Given the description of an element on the screen output the (x, y) to click on. 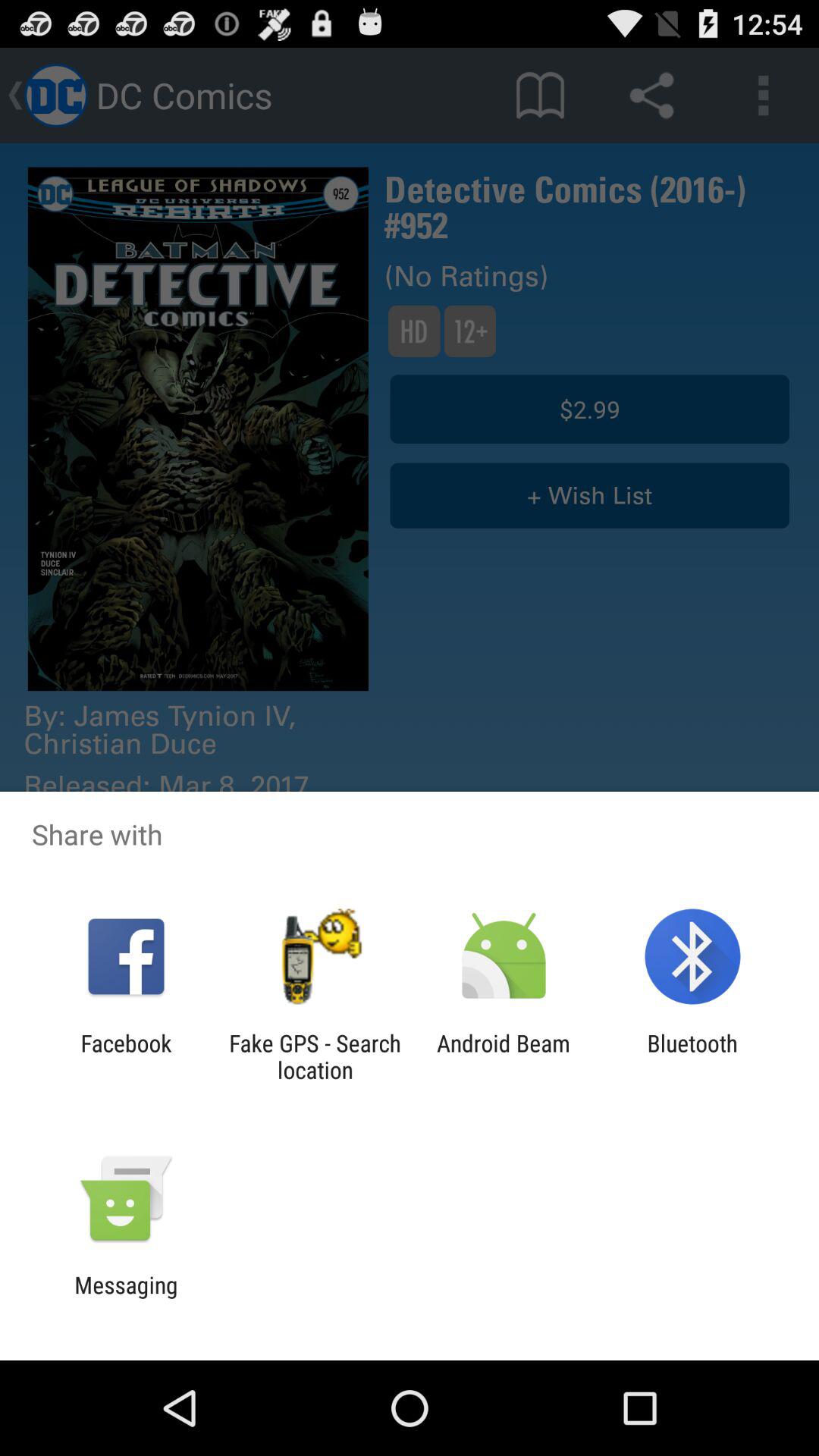
choose item to the left of the fake gps search (125, 1056)
